Given the description of an element on the screen output the (x, y) to click on. 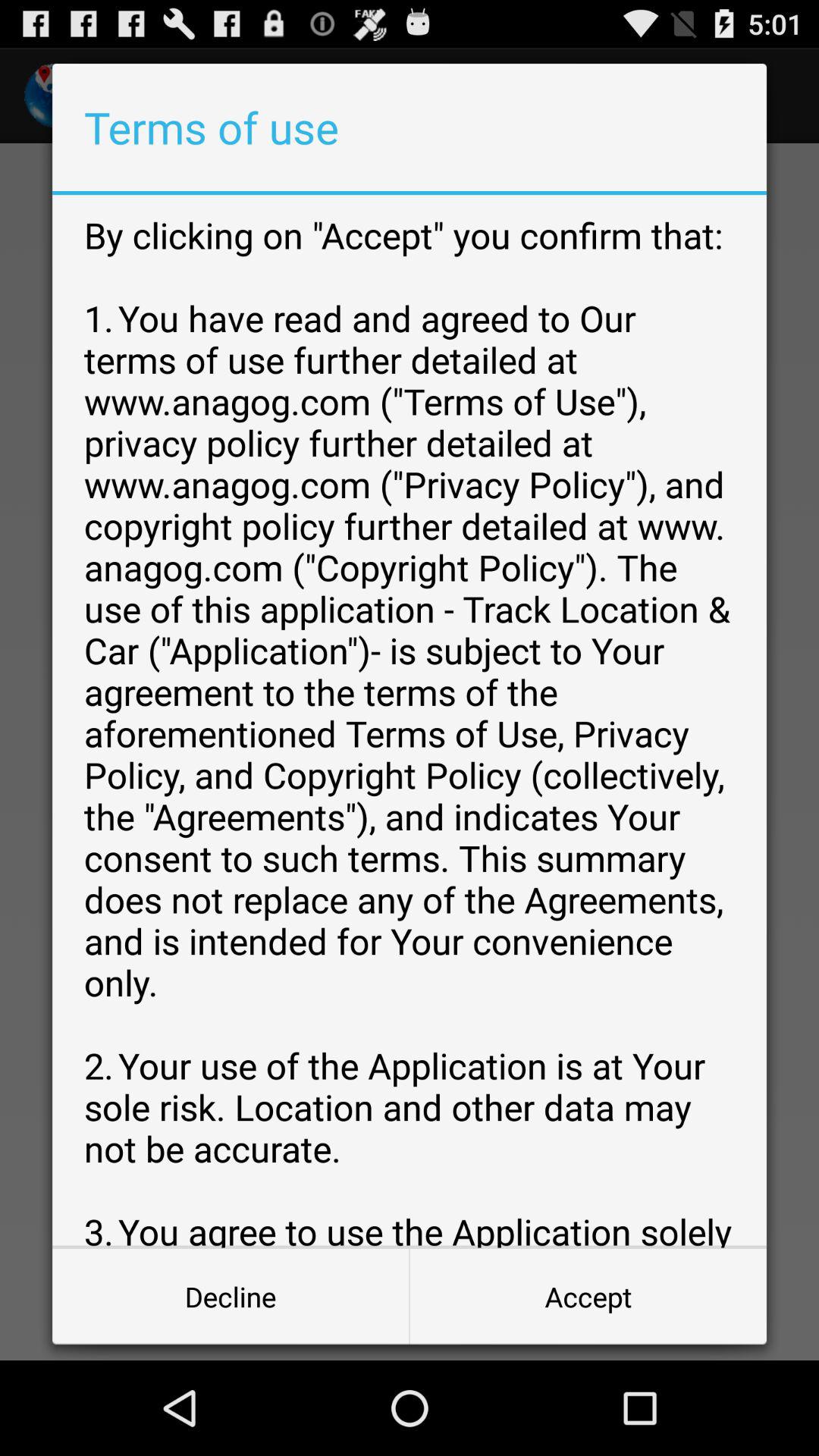
choose the decline item (230, 1296)
